Given the description of an element on the screen output the (x, y) to click on. 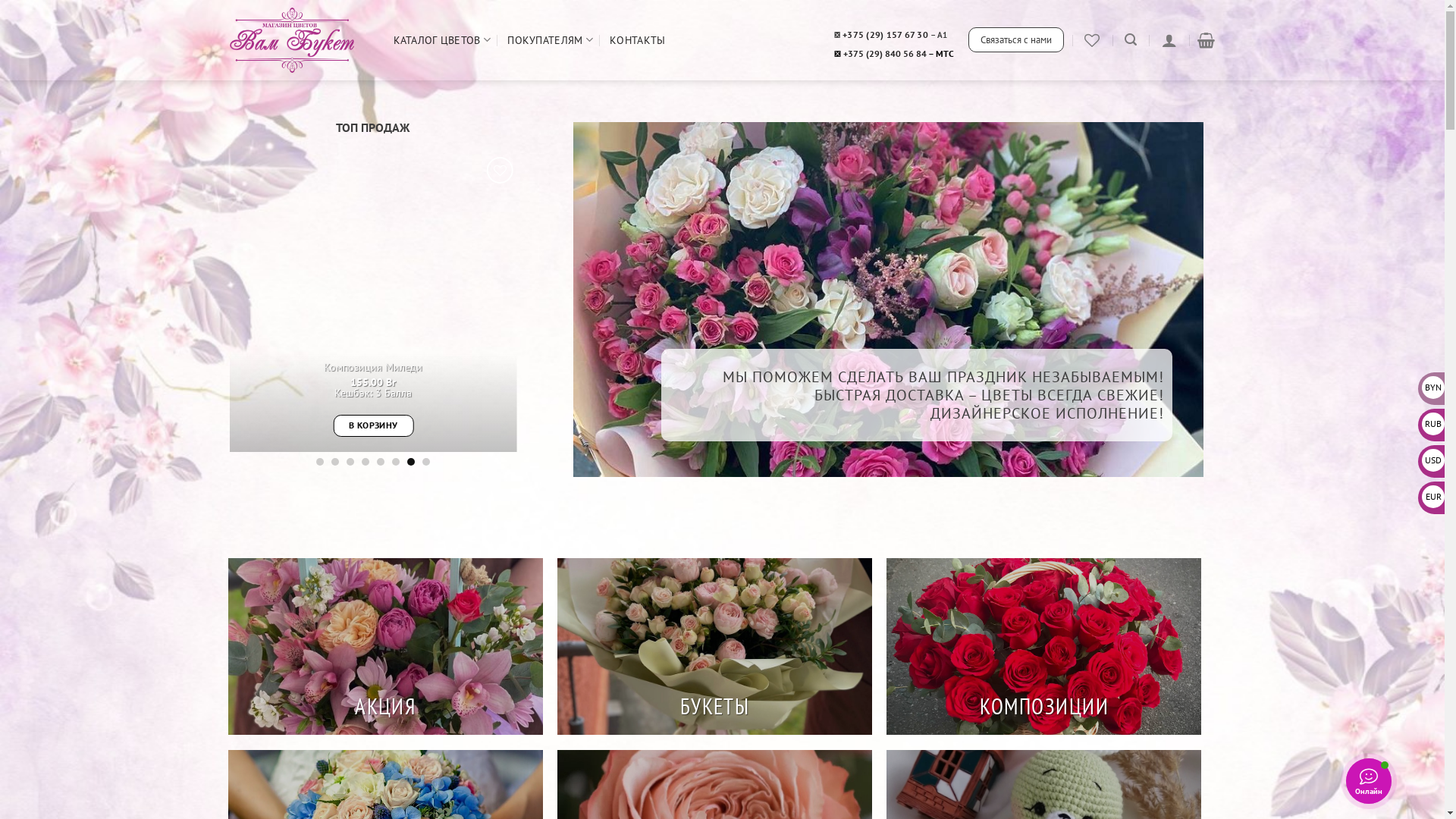
+375 (29) 840 56 84 Element type: text (884, 53)
Skip to content Element type: text (0, 0)
+375 (29) 157 67 30 Element type: text (885, 34)
